Given the description of an element on the screen output the (x, y) to click on. 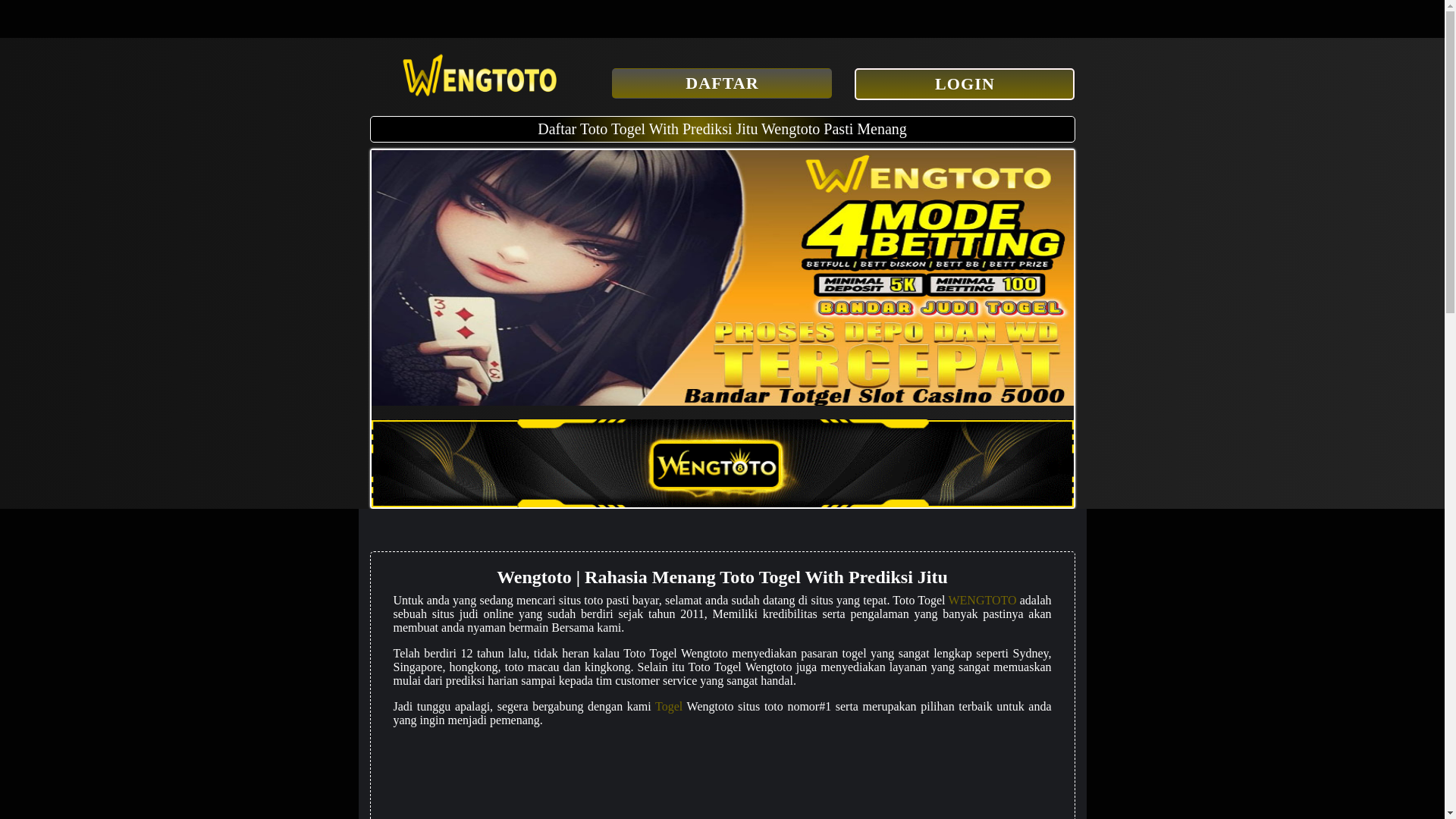
LOGIN (964, 84)
DAFTAR (721, 83)
Togel (668, 706)
DAFTAR (721, 82)
LOGIN (964, 83)
WENGTOTO (981, 599)
